Given the description of an element on the screen output the (x, y) to click on. 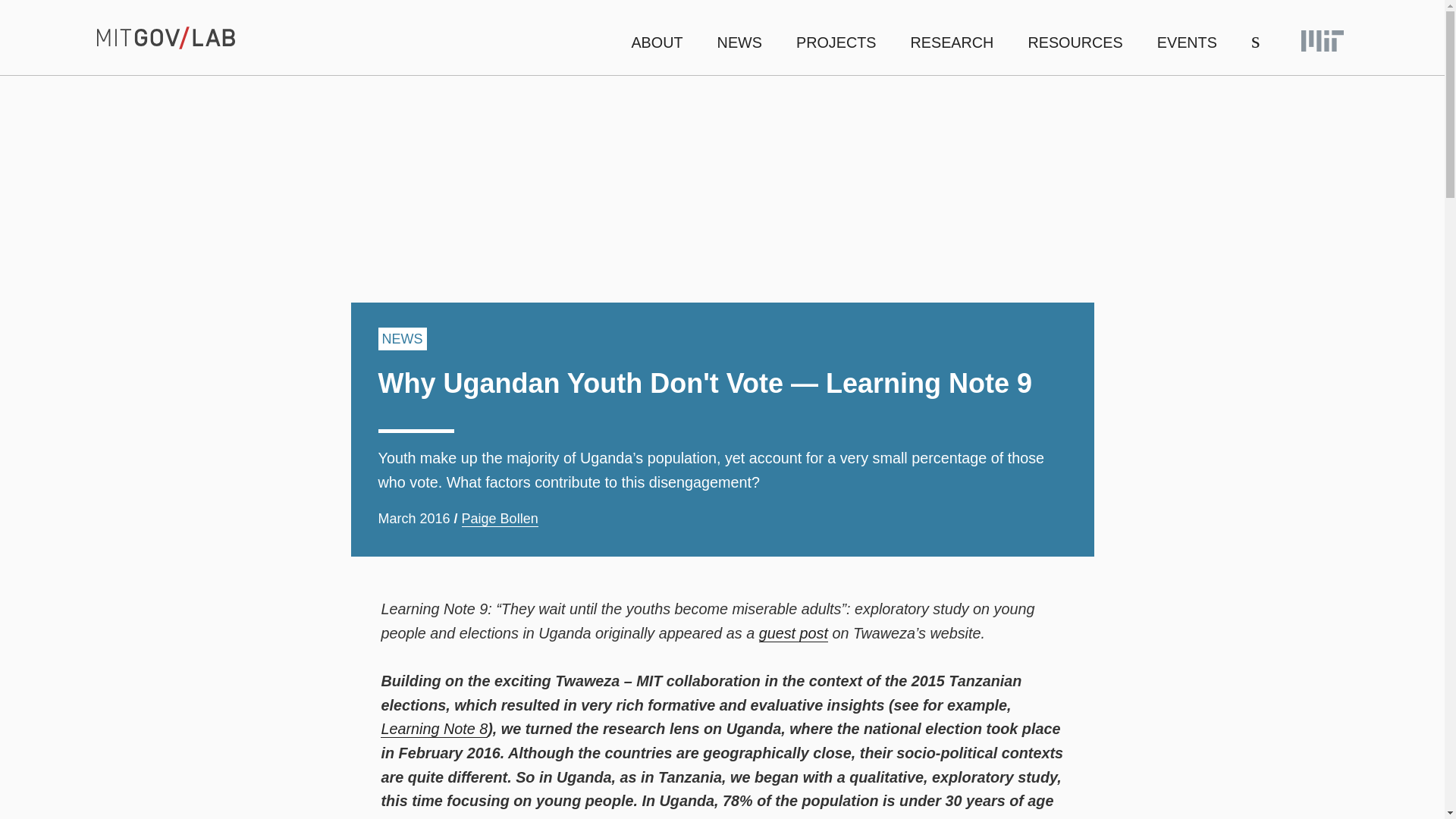
RESEARCH (951, 42)
NEWS (739, 42)
Paige Bollen (499, 519)
RESOURCES (1074, 42)
guest post (793, 633)
Learning Note 8 (433, 728)
EVENTS (1187, 42)
ABOUT (656, 42)
PROJECTS (836, 42)
